Given the description of an element on the screen output the (x, y) to click on. 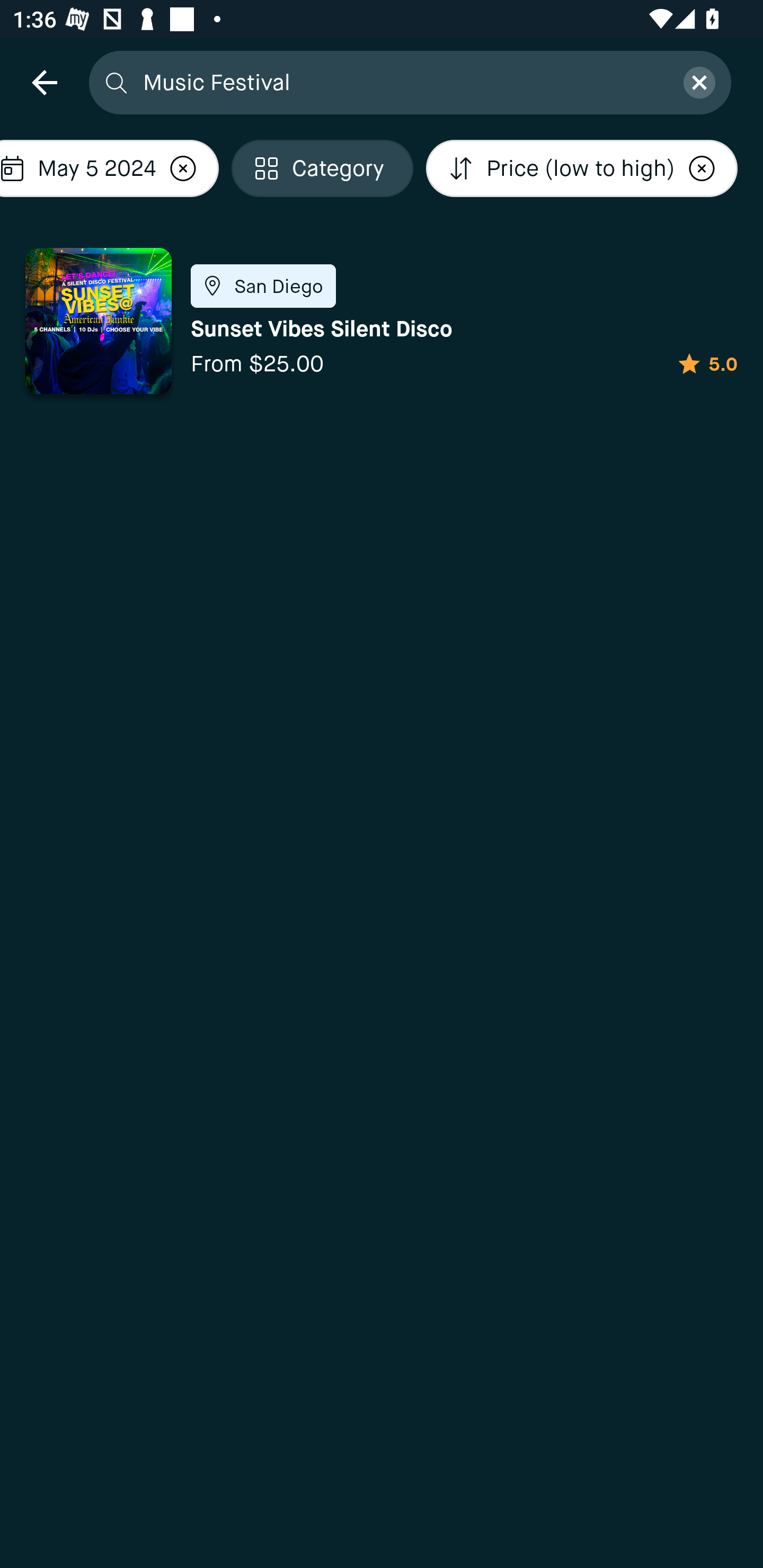
navigation icon (44, 81)
Music Festival (402, 81)
Localized description (182, 168)
Localized description Category (322, 168)
Localized description (701, 168)
